Given the description of an element on the screen output the (x, y) to click on. 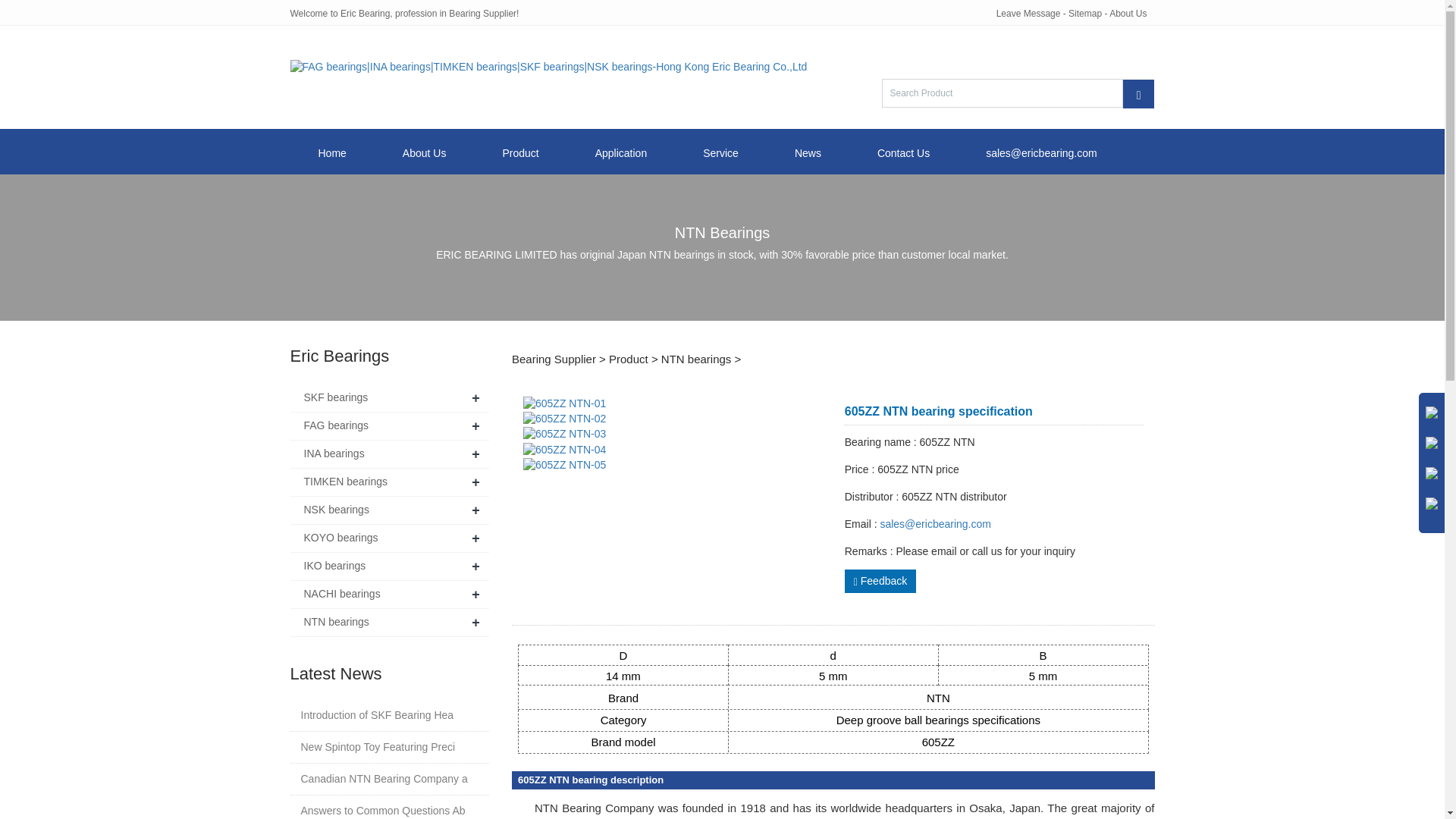
Contact us (1128, 13)
About Us (424, 151)
News (807, 151)
Product (627, 358)
Home (331, 151)
New Spintop Toy Featuring Preci (376, 747)
Contact Us (903, 151)
Bearing Supplier (553, 358)
NTN bearings (696, 358)
Sitemap (1085, 13)
Introduction of SKF Bearing Hea (375, 715)
Leave Message (1028, 13)
605ZZ NTN-01 (563, 403)
605ZZ NTN-04 (563, 450)
About Us (1128, 13)
